Given the description of an element on the screen output the (x, y) to click on. 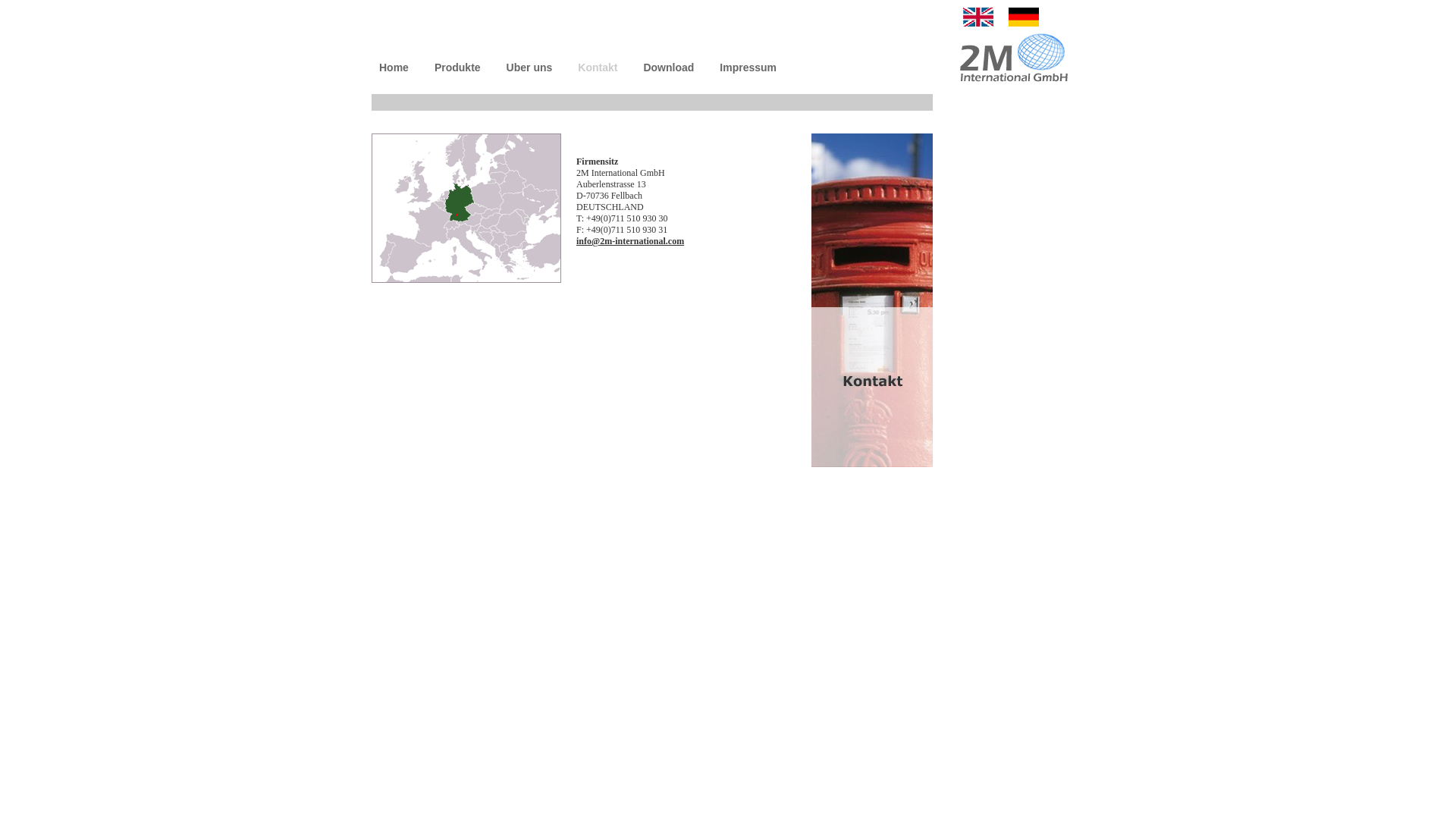
Impressum Element type: text (747, 67)
info@2m-international.com Element type: text (630, 240)
Produkte Element type: text (457, 67)
Uber uns Element type: text (529, 67)
Download Element type: text (668, 67)
Home Element type: text (393, 67)
